Given the description of an element on the screen output the (x, y) to click on. 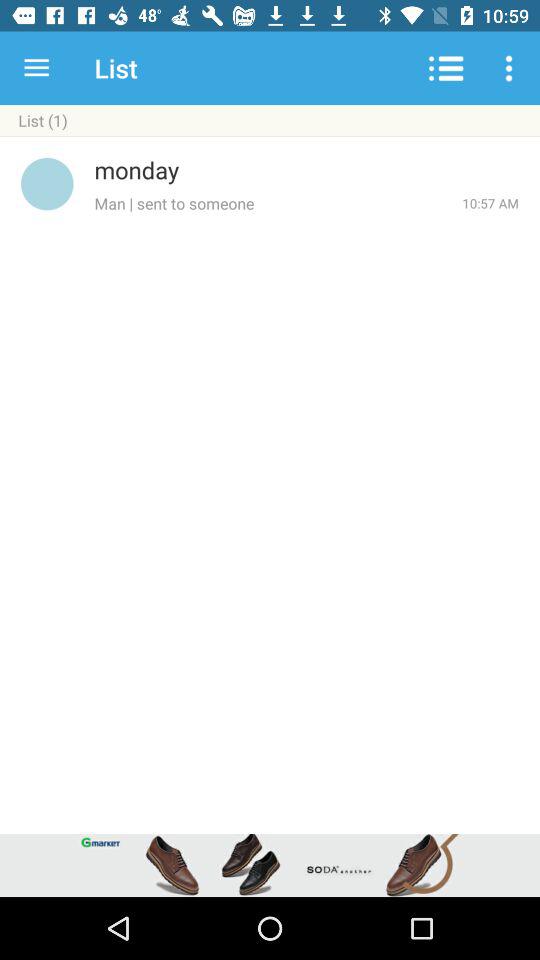
tap item to the left of monday icon (47, 183)
